Given the description of an element on the screen output the (x, y) to click on. 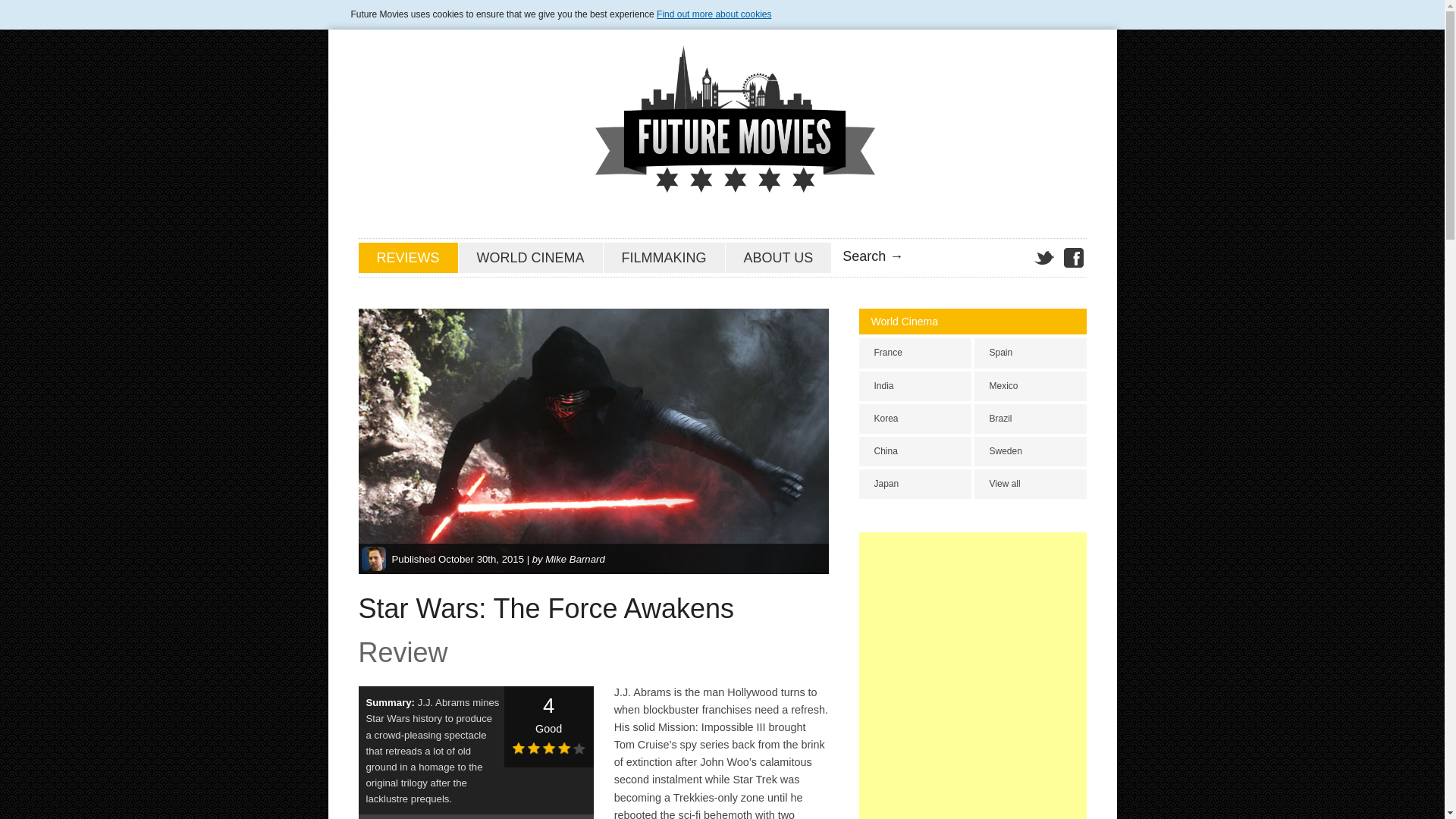
Spain (1030, 352)
WORLD CINEMA (530, 257)
Brazil (1030, 419)
Future Movies Twitter page (1043, 257)
Korea (915, 419)
Mexico (1030, 386)
Find out more about cookies (713, 14)
China (915, 451)
ABOUT US (778, 257)
FILMMAKING (664, 257)
France (915, 352)
Japan (915, 483)
REVIEWS (407, 257)
Future Movies Facebook page (1072, 257)
India (915, 386)
